Given the description of an element on the screen output the (x, y) to click on. 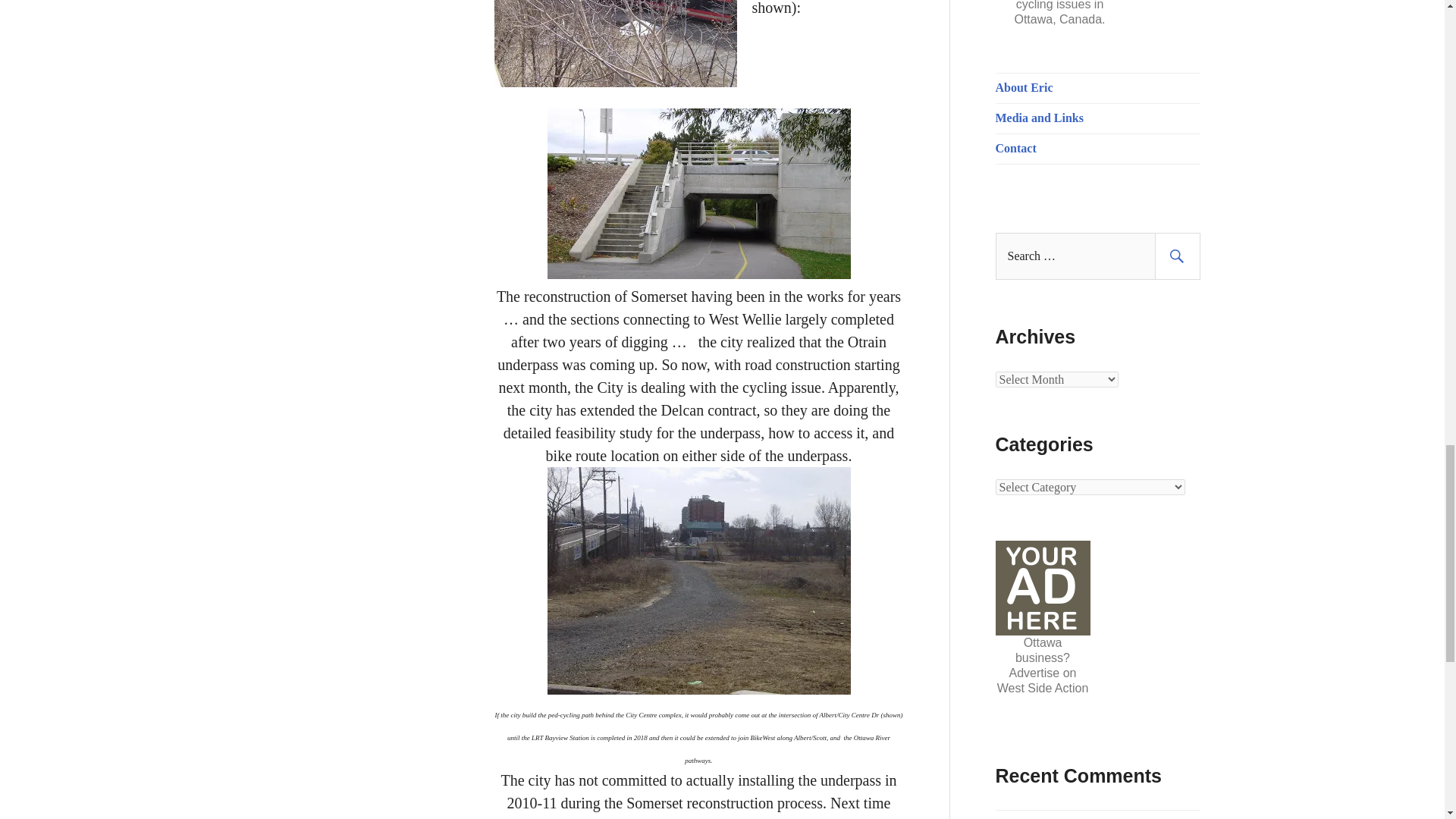
Search (1176, 256)
Your Ad Here (1041, 587)
Bold (1038, 117)
all capitals (1023, 87)
Search (1176, 256)
Bold (1014, 147)
